Given the description of an element on the screen output the (x, y) to click on. 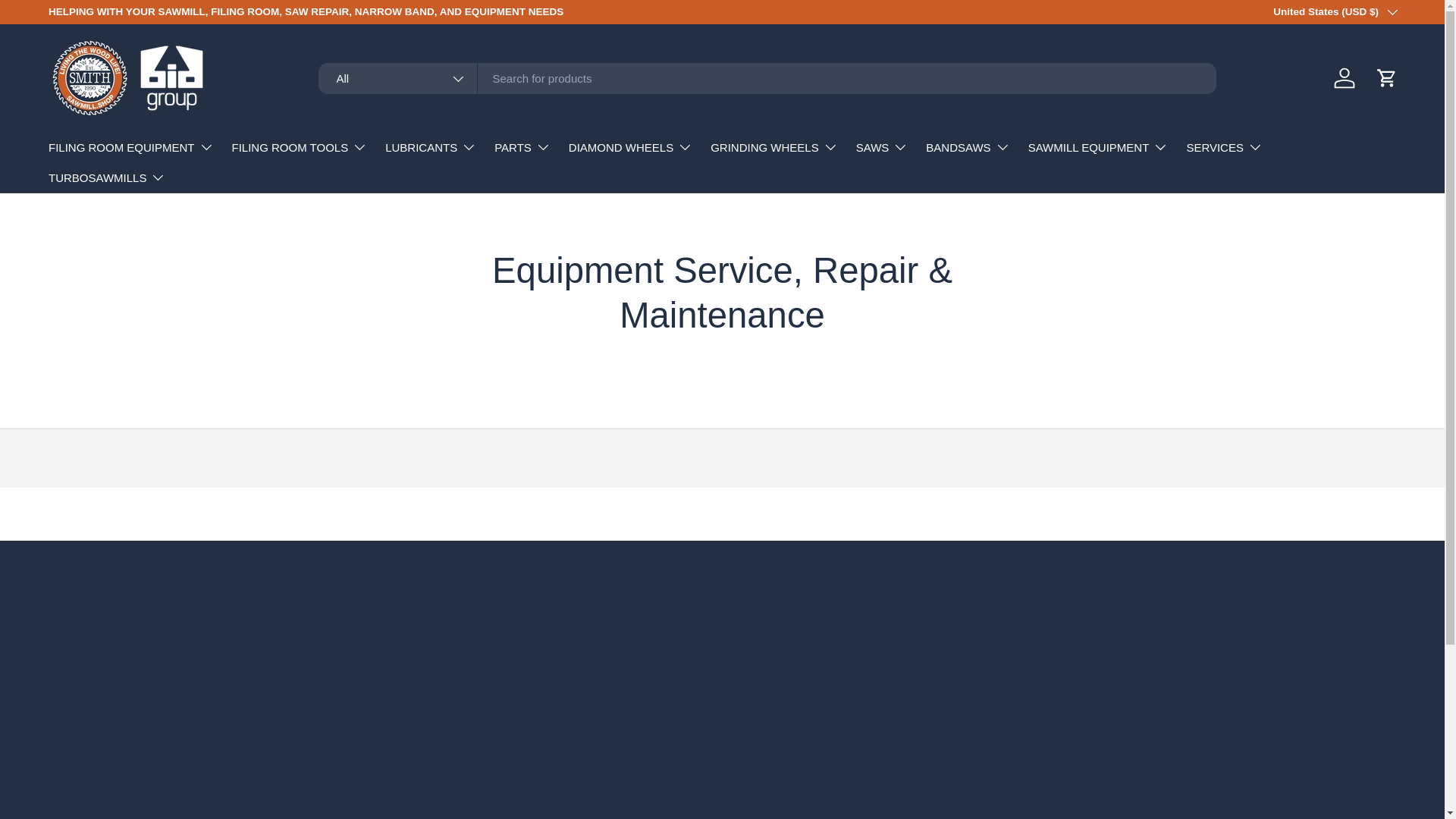
FILING ROOM EQUIPMENT (131, 146)
FILING ROOM TOOLS (299, 146)
Skip to content (68, 21)
Log in (1344, 78)
Cart (1386, 78)
PARTS (522, 146)
All (397, 78)
LUBRICANTS (430, 146)
